Given the description of an element on the screen output the (x, y) to click on. 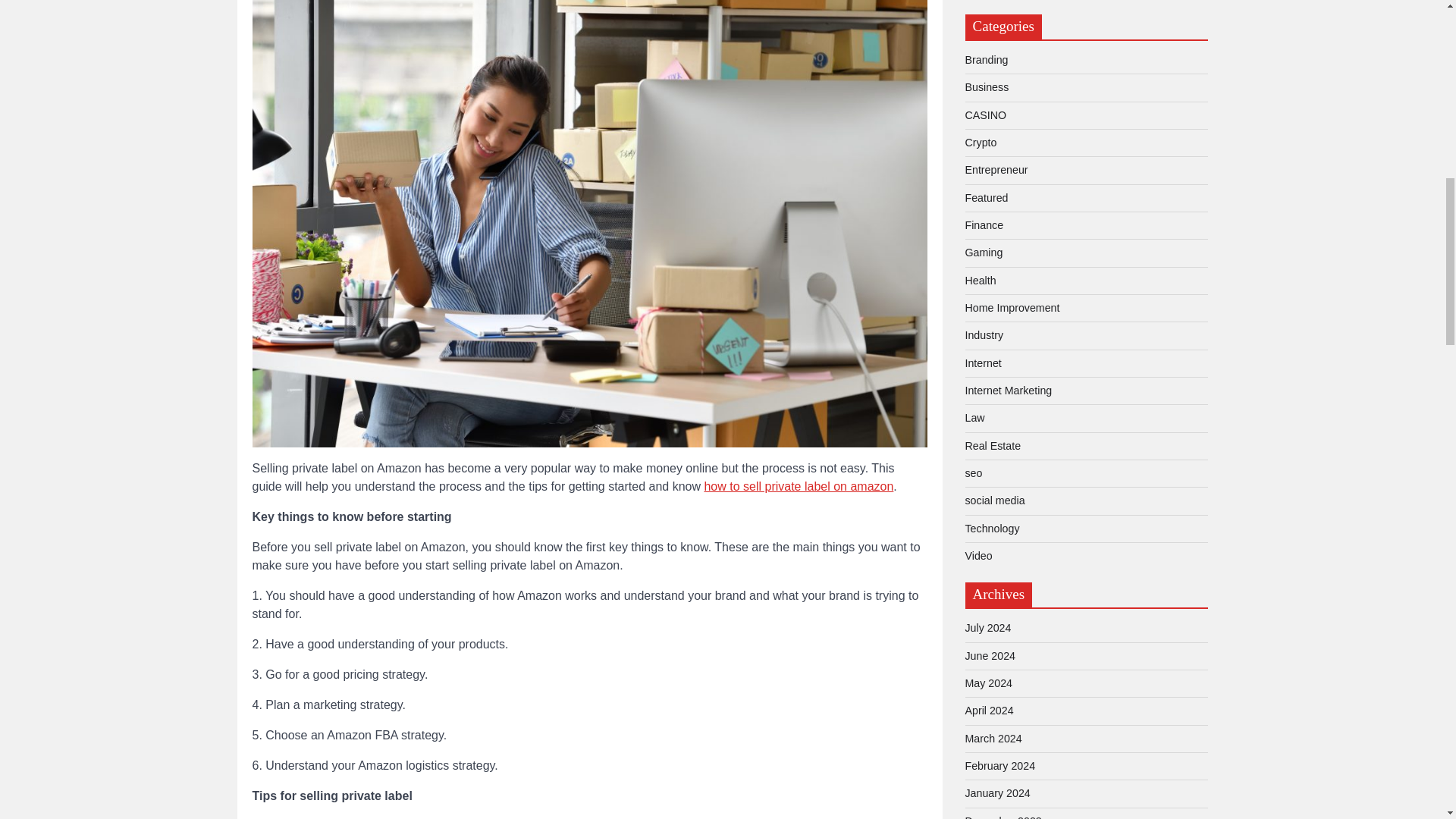
how to sell private label on amazon (798, 486)
Internet (982, 363)
Health (979, 280)
Finance (983, 224)
CASINO (984, 114)
Crypto (979, 142)
Internet Marketing (1007, 390)
Featured (985, 197)
Industry (983, 335)
Branding (985, 60)
Gaming (983, 252)
Home Improvement (1011, 307)
Business (986, 87)
Entrepreneur (995, 169)
Law (973, 417)
